Given the description of an element on the screen output the (x, y) to click on. 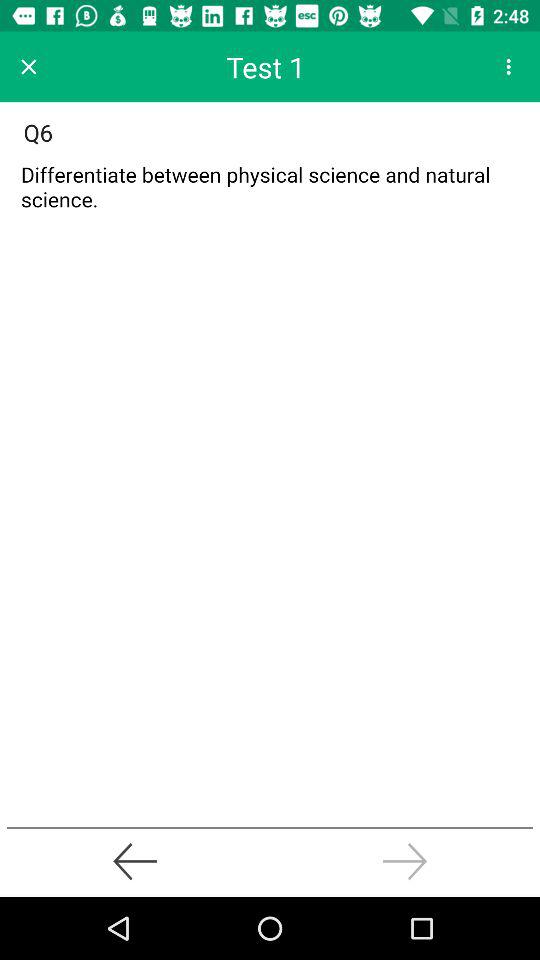
go back (135, 861)
